Given the description of an element on the screen output the (x, y) to click on. 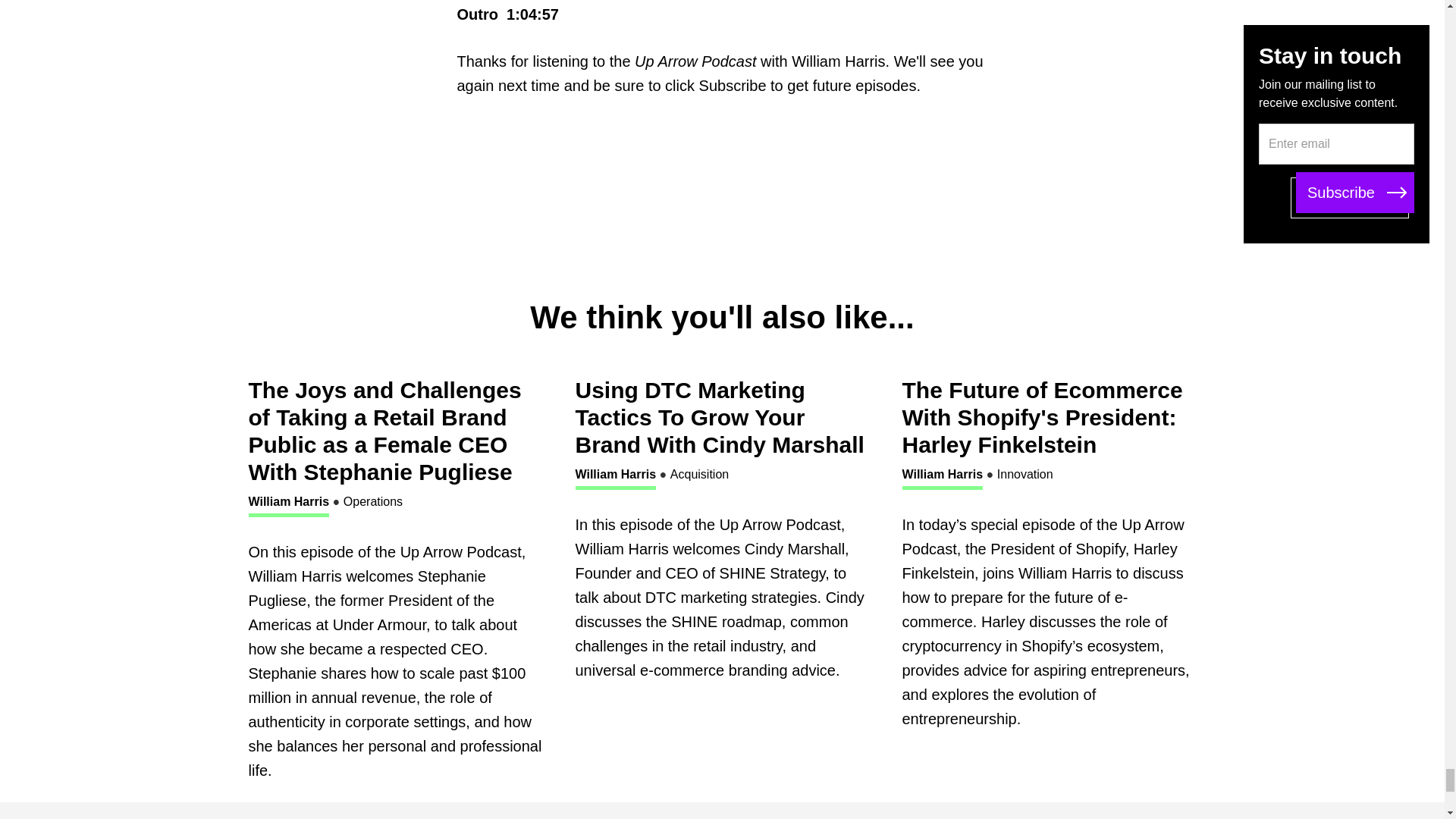
William Harris (289, 503)
